Given the description of an element on the screen output the (x, y) to click on. 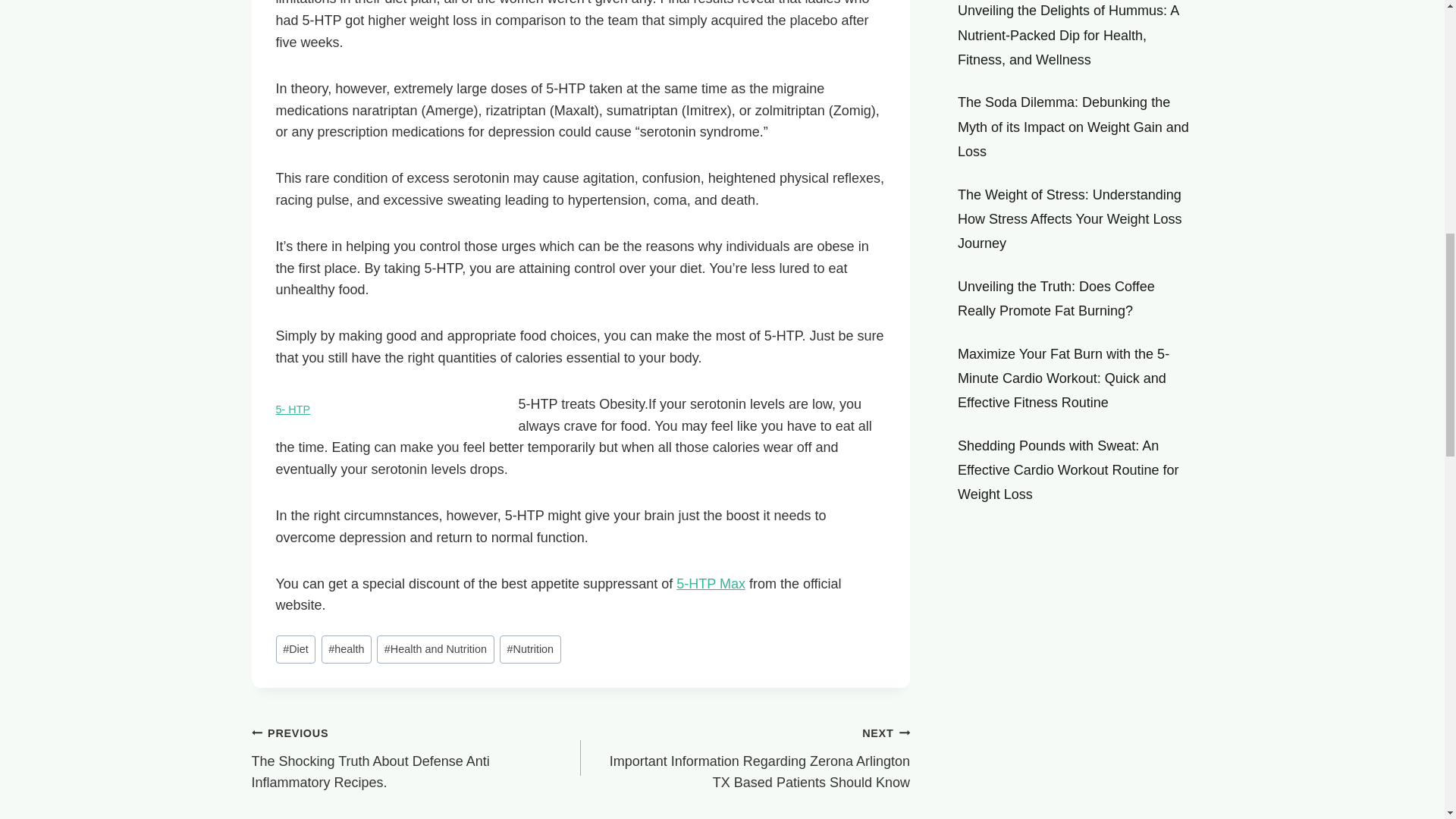
5-HTP Max (711, 583)
Diet (295, 649)
Nutrition (529, 649)
Health and Nutrition (435, 649)
health (346, 649)
5- HTP (293, 409)
